Given the description of an element on the screen output the (x, y) to click on. 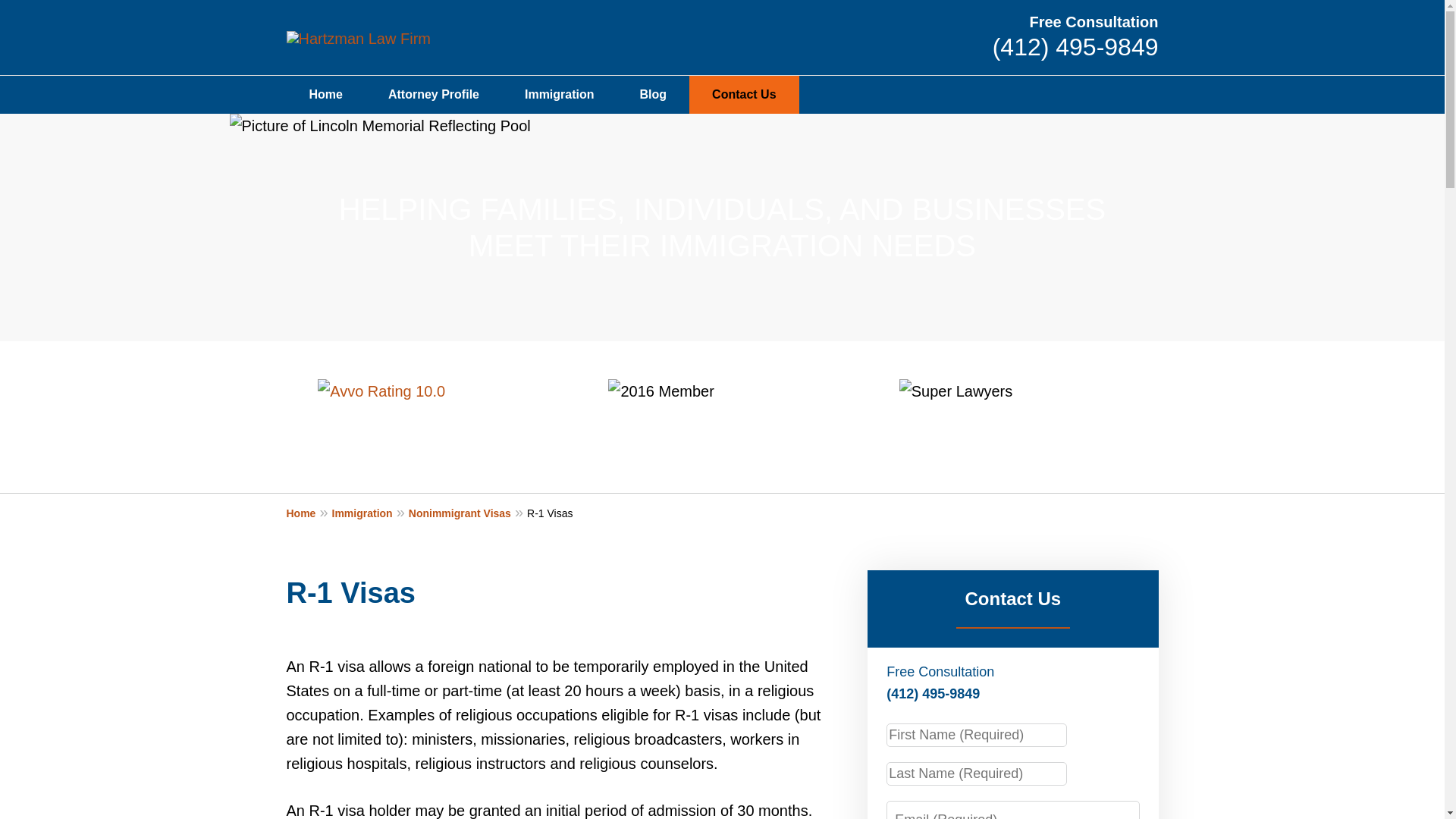
Attorney Profile (433, 94)
Contact Us (742, 94)
Nonimmigrant Visas (468, 513)
Blog (653, 94)
Home (308, 513)
Home (325, 94)
Free Consultation (1093, 21)
Immigration (559, 94)
Immigration (370, 513)
